Given the description of an element on the screen output the (x, y) to click on. 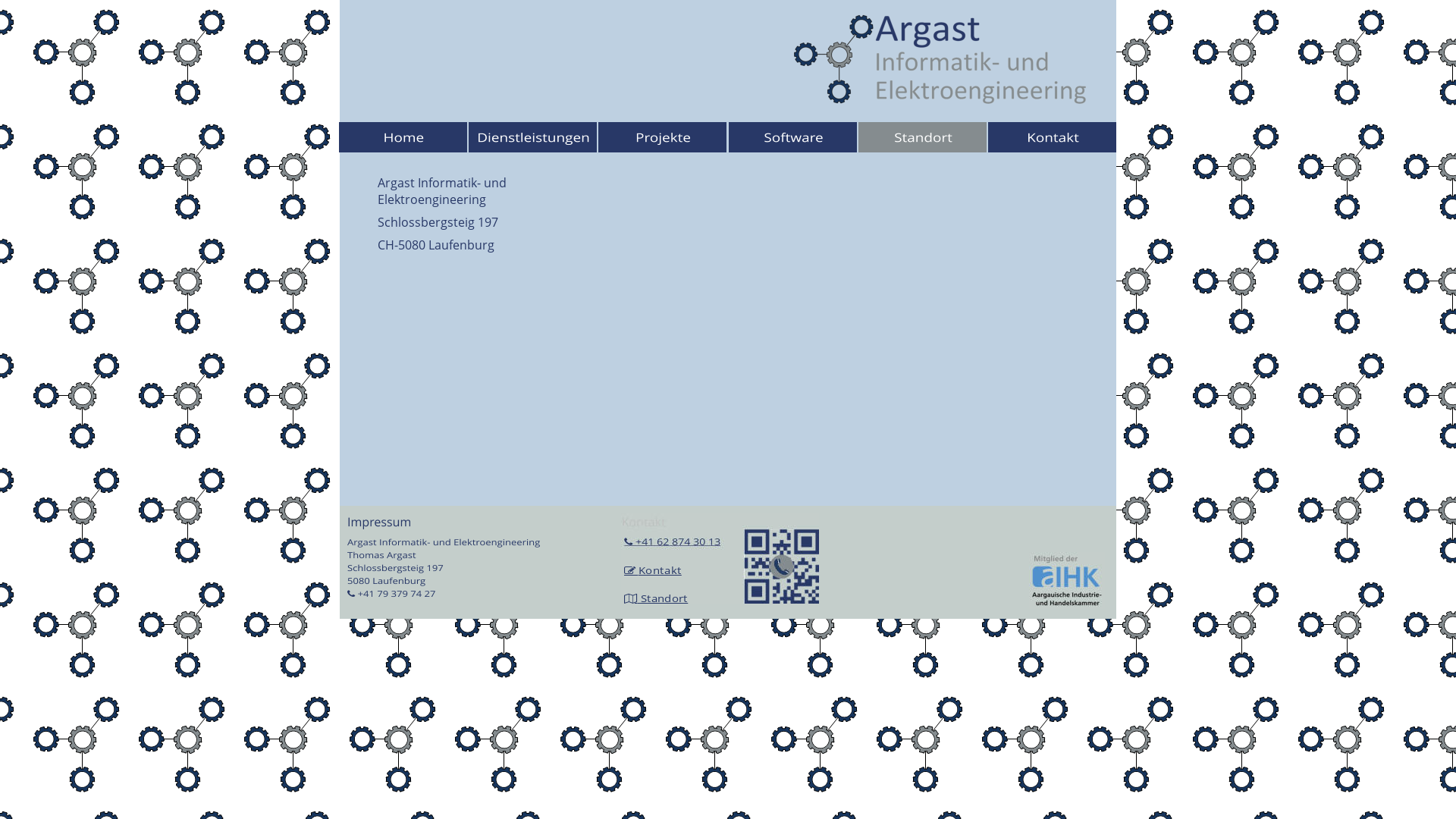
 Standort Element type: text (662, 598)
Kontakt Element type: text (659, 570)
  Element type: text (636, 570)
